Given the description of an element on the screen output the (x, y) to click on. 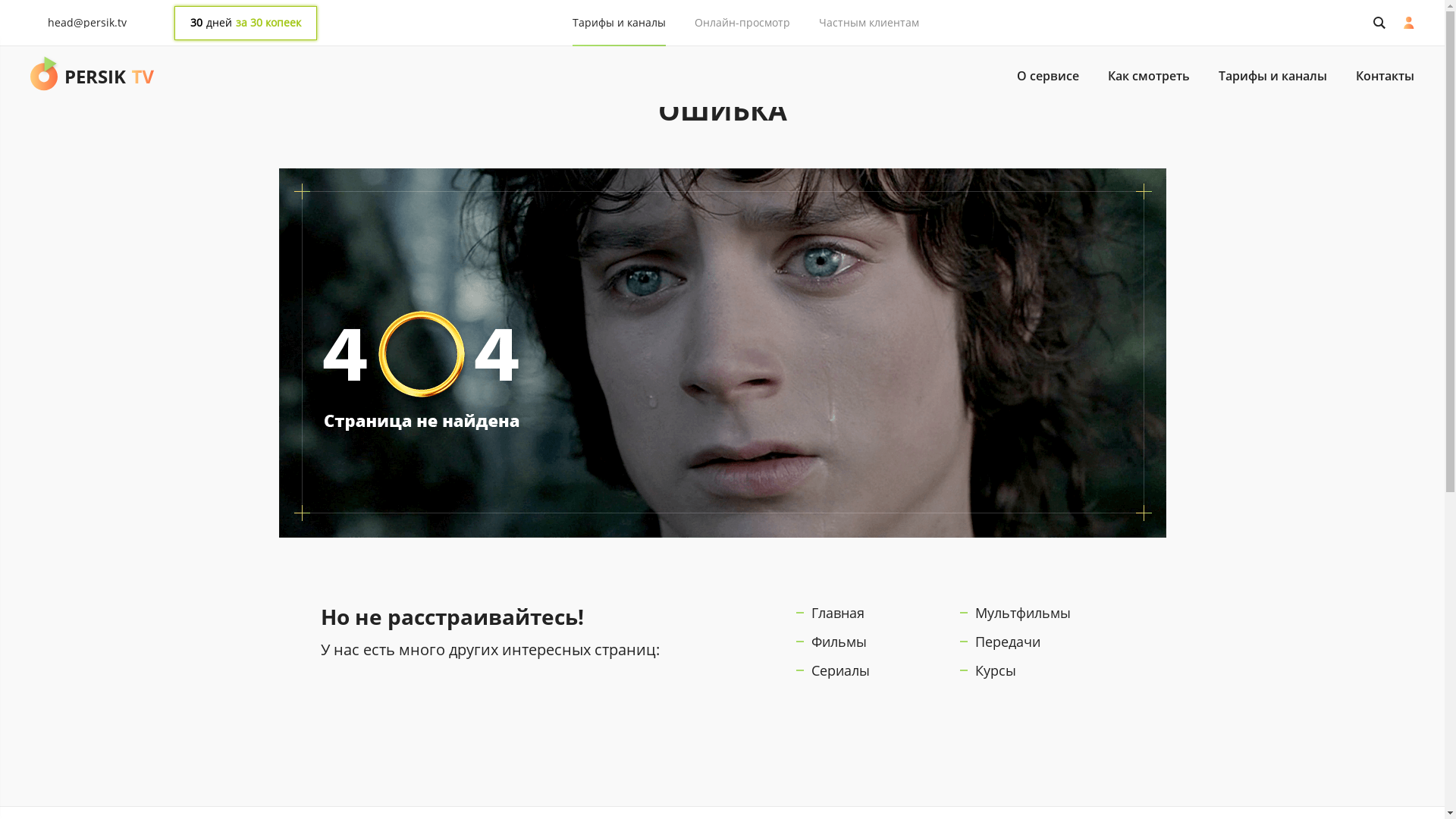
PERSIK Element type: text (91, 76)
head@persik.tv Element type: text (86, 22)
